Given the description of an element on the screen output the (x, y) to click on. 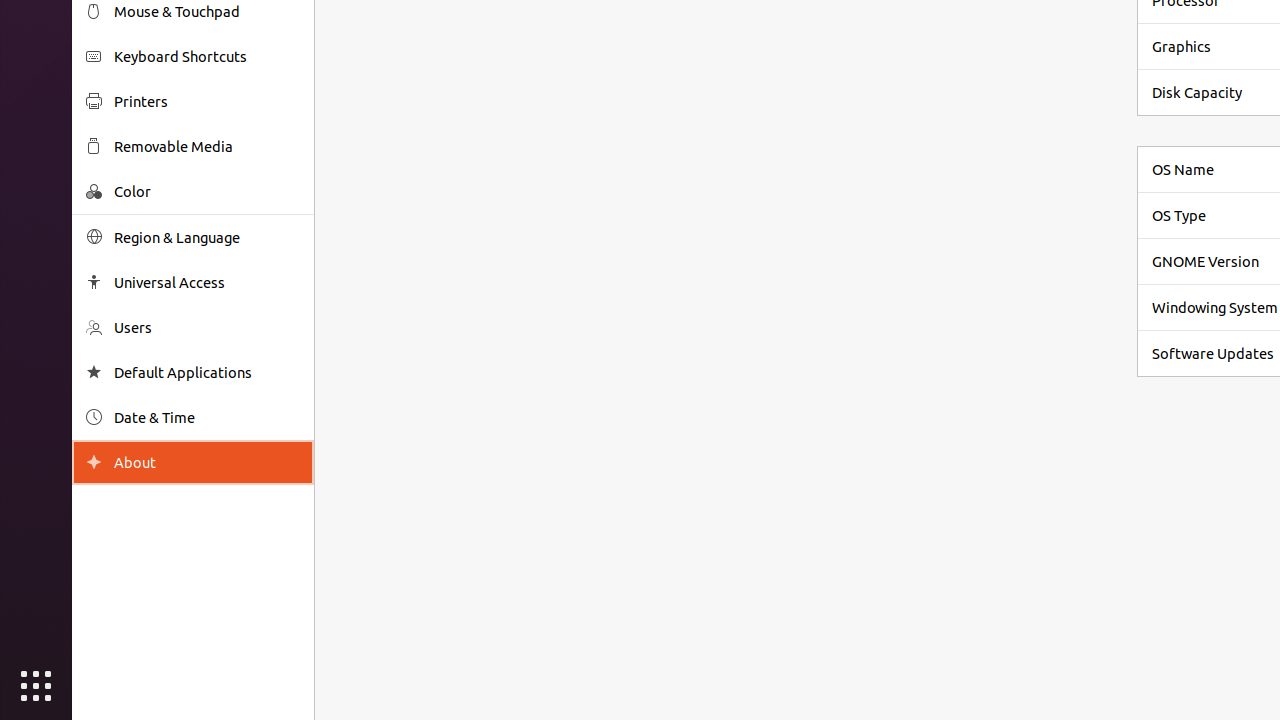
Removable Media Element type: label (207, 146)
Region & Language Element type: label (207, 237)
